Given the description of an element on the screen output the (x, y) to click on. 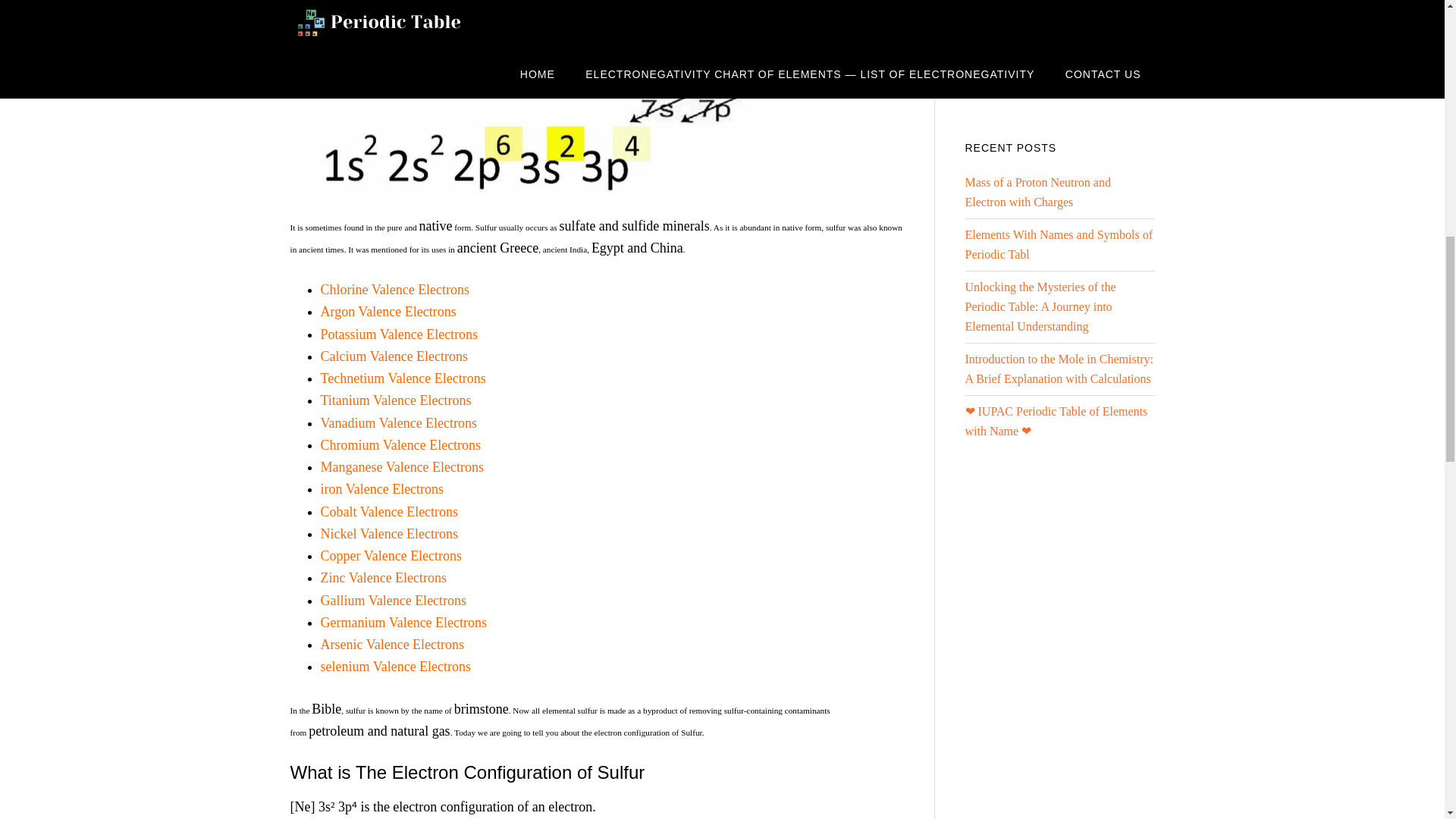
iron Valence Electrons (382, 488)
Chromium Valence Electrons (400, 444)
Argon Valence Electrons (387, 311)
Germanium Valence Electrons (403, 622)
Cobalt Valence Electrons (389, 510)
Zinc Valence Electrons (383, 577)
Vanadium Valence Electrons (398, 422)
Nickel Valence Electrons (389, 533)
Advertisement (1077, 52)
Manganese Valence Electrons (401, 467)
Chlorine Valence Electrons (394, 289)
selenium Valence Electrons (395, 666)
Calcium Valence Electrons (393, 355)
Titanium Valence Electrons (395, 400)
Potassium Valence Electrons (398, 333)
